Given the description of an element on the screen output the (x, y) to click on. 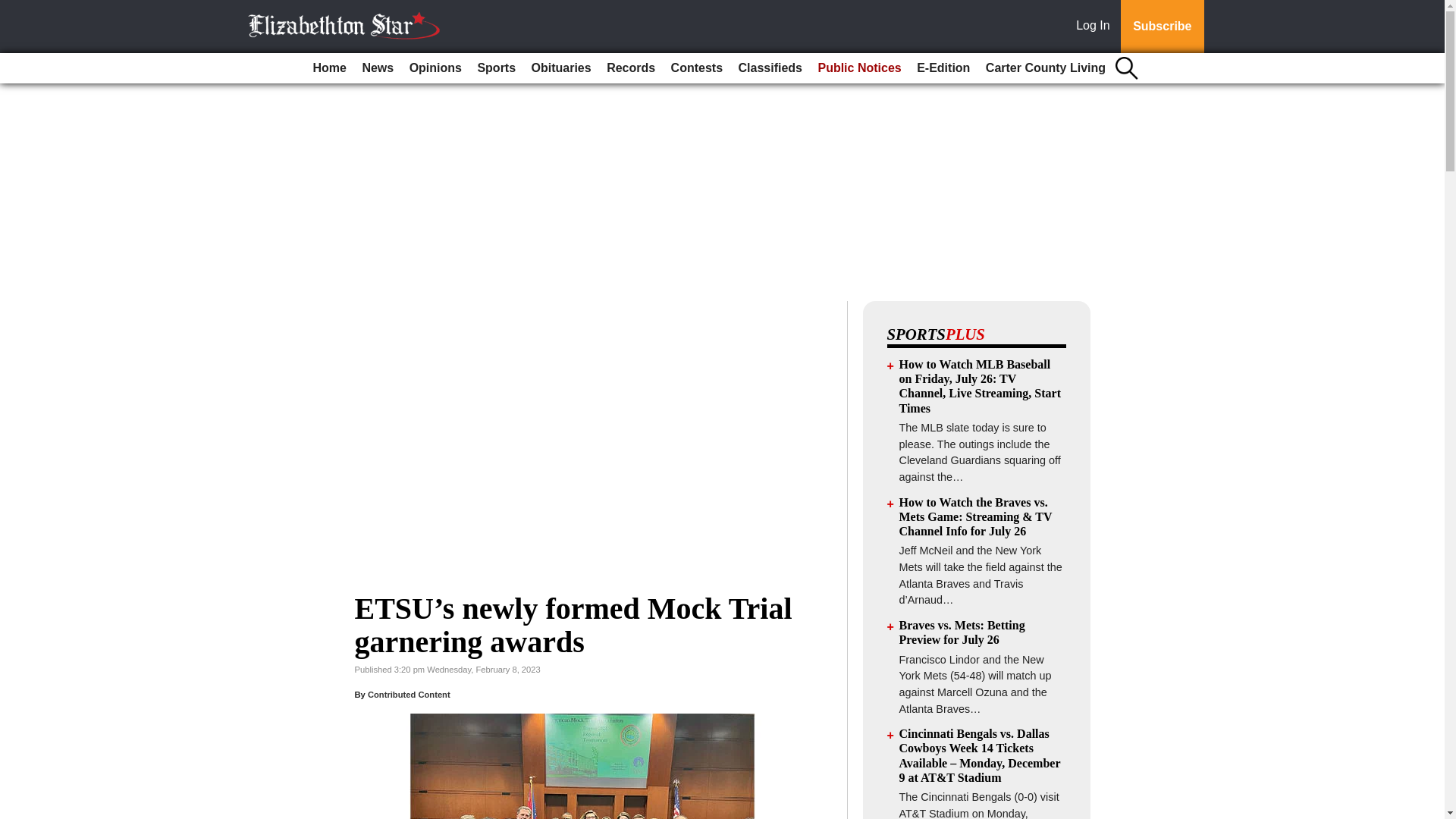
E-Edition (943, 68)
Classifieds (770, 68)
Log In (1095, 26)
Public Notices (858, 68)
Home (328, 68)
Go (13, 9)
Contests (697, 68)
Carter County Living (1045, 68)
Subscribe (1162, 26)
Sports (495, 68)
Opinions (435, 68)
Obituaries (560, 68)
Braves vs. Mets: Betting Preview for July 26 (962, 632)
News (376, 68)
